Given the description of an element on the screen output the (x, y) to click on. 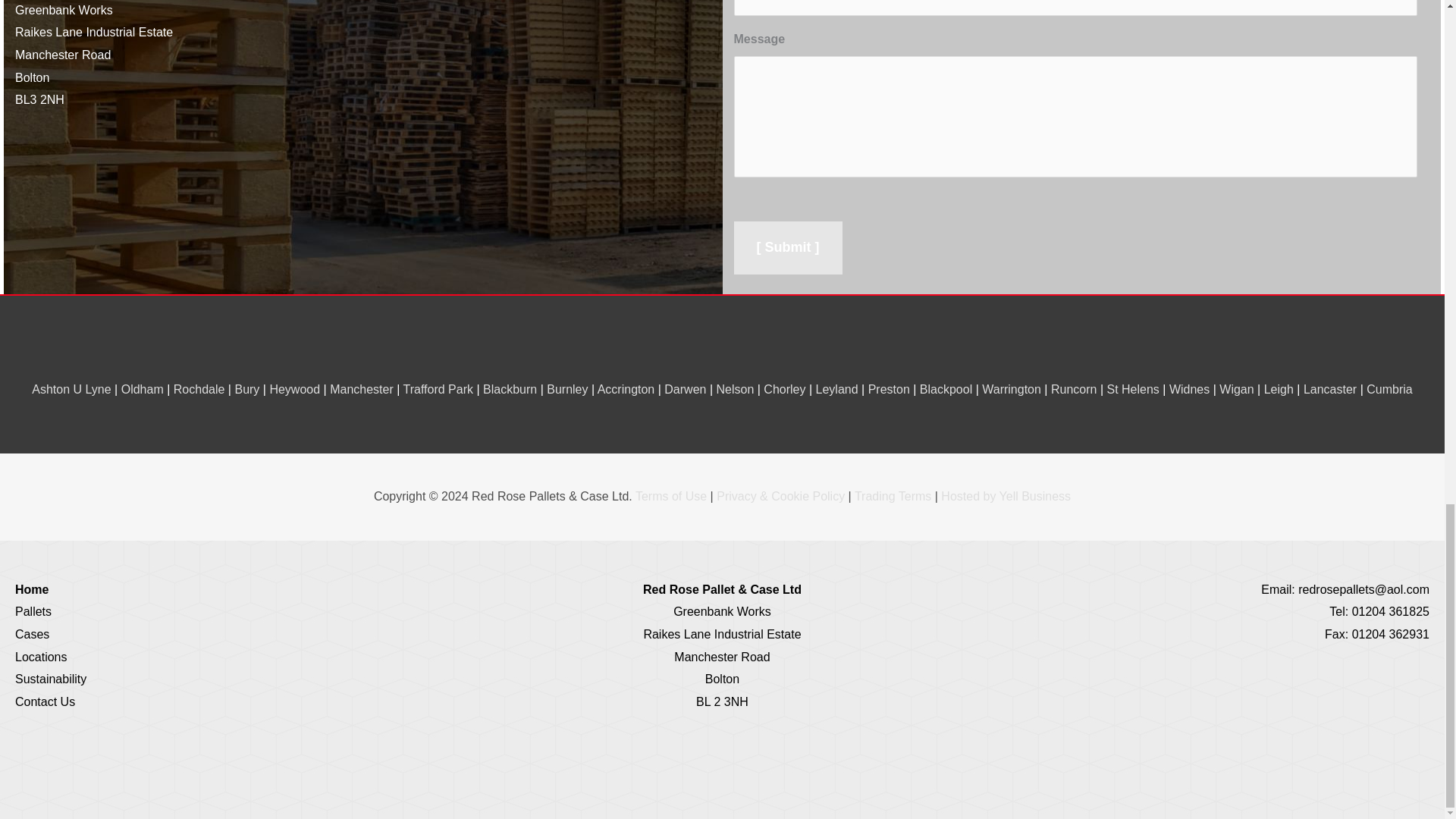
Accrington (625, 389)
Bury (246, 389)
Runcorn (1073, 389)
Oldham (141, 389)
Heywood (294, 389)
Darwen (684, 389)
St Helens (1132, 389)
Chorley (783, 389)
Nelson (735, 389)
Preston (888, 389)
Warrington (1011, 389)
Rochdale (199, 389)
